Given the description of an element on the screen output the (x, y) to click on. 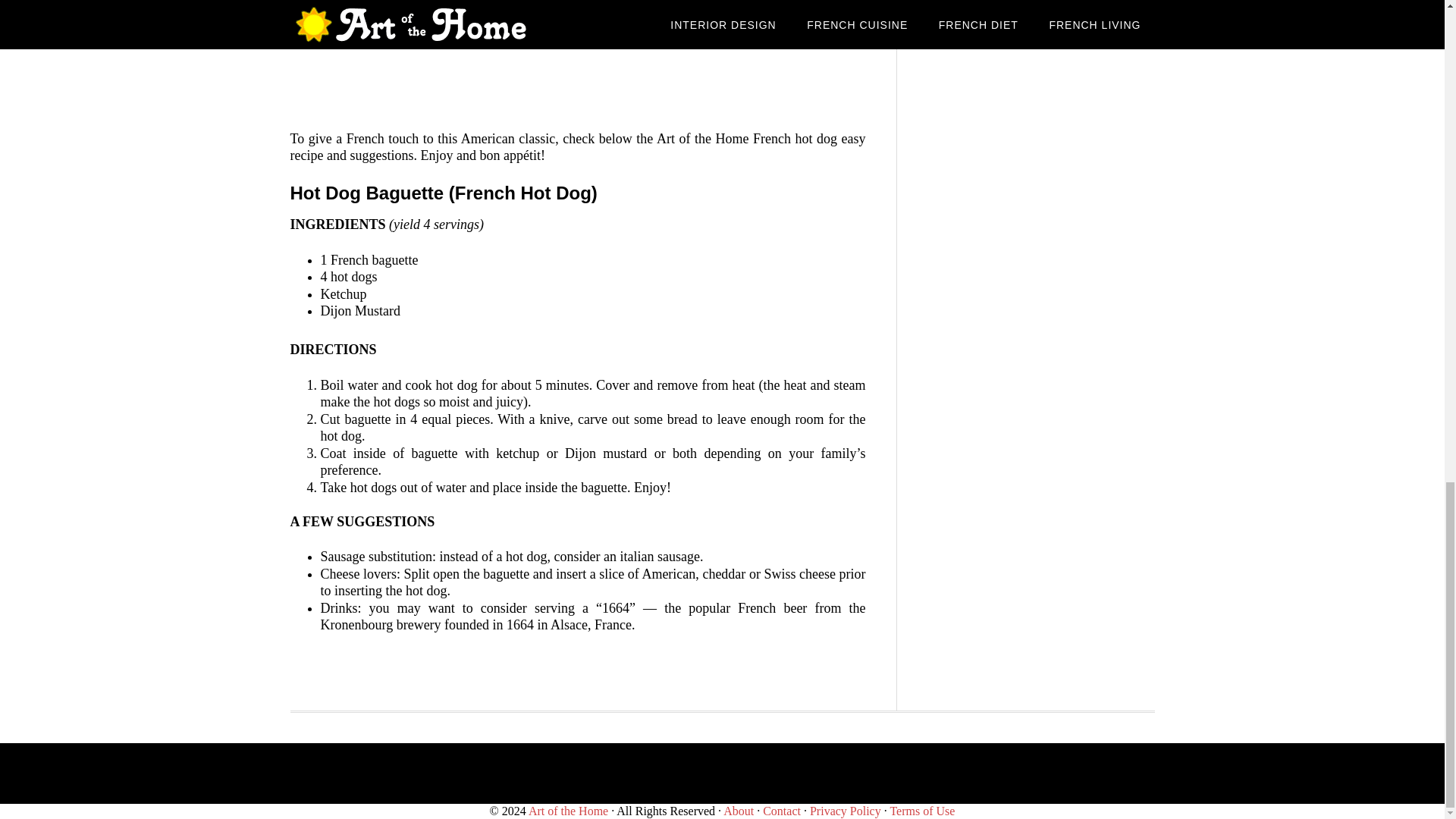
Art of the Home (568, 810)
Terms of Use (922, 810)
About (738, 810)
Contact (781, 810)
hot-dog-maker (577, 56)
Privacy Policy (844, 810)
